Given the description of an element on the screen output the (x, y) to click on. 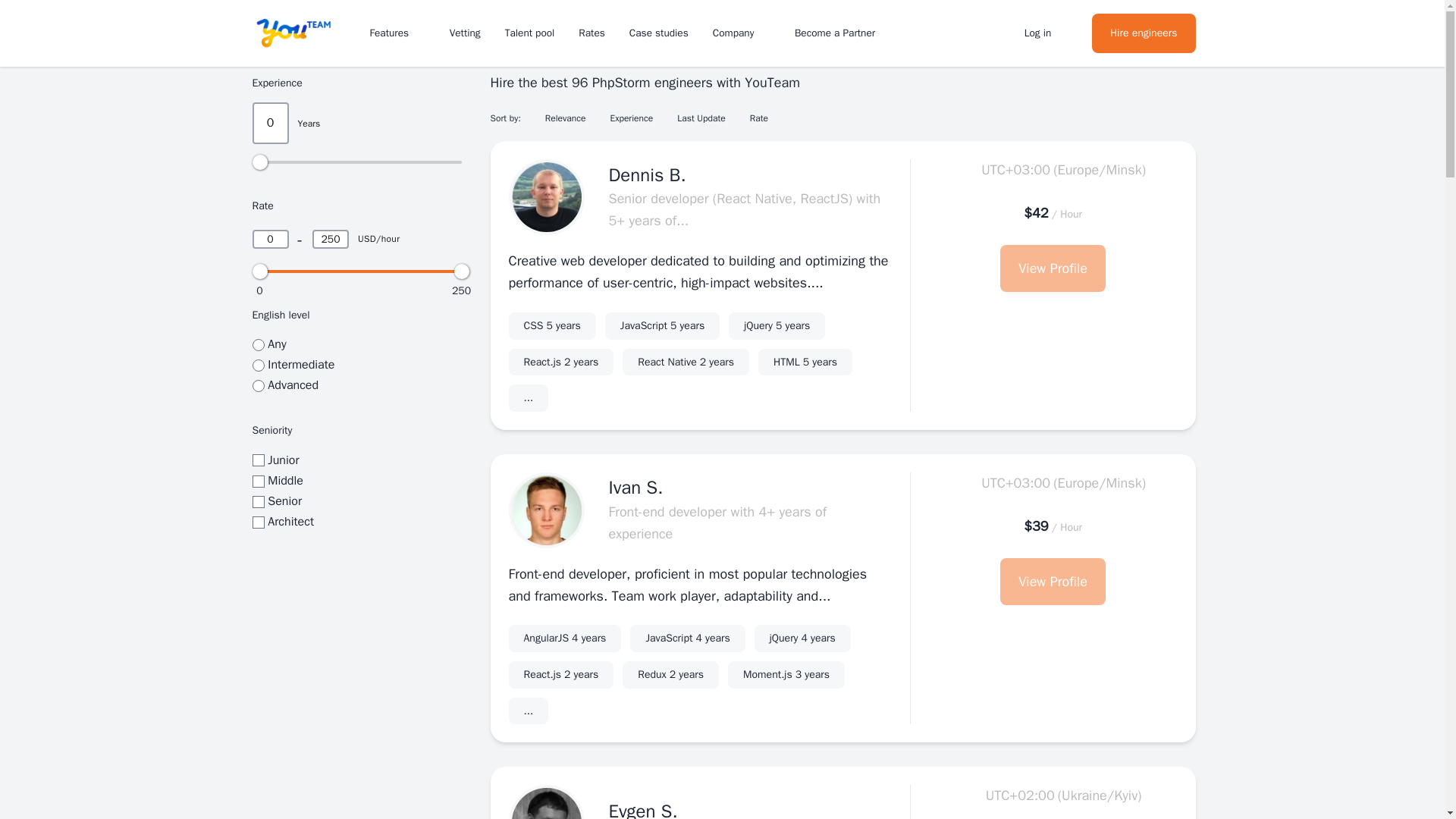
250 (331, 239)
0 (269, 239)
View Profile (1052, 581)
Company (741, 32)
2 (687, 637)
View Profile (802, 637)
1 (257, 501)
